Given the description of an element on the screen output the (x, y) to click on. 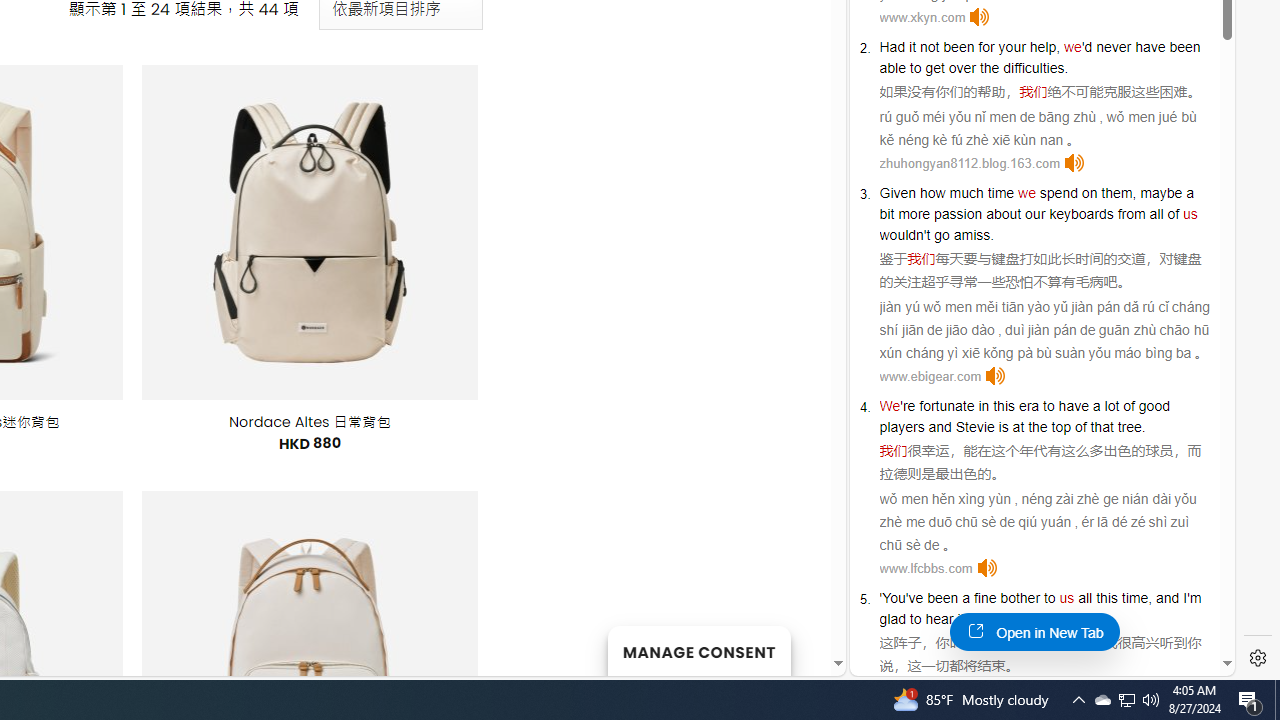
We (890, 405)
going (994, 619)
fortunate (947, 405)
in (983, 405)
we (1026, 192)
a bit (1036, 203)
hear (939, 619)
. (1060, 619)
a (966, 597)
maybe (1161, 192)
